Given the description of an element on the screen output the (x, y) to click on. 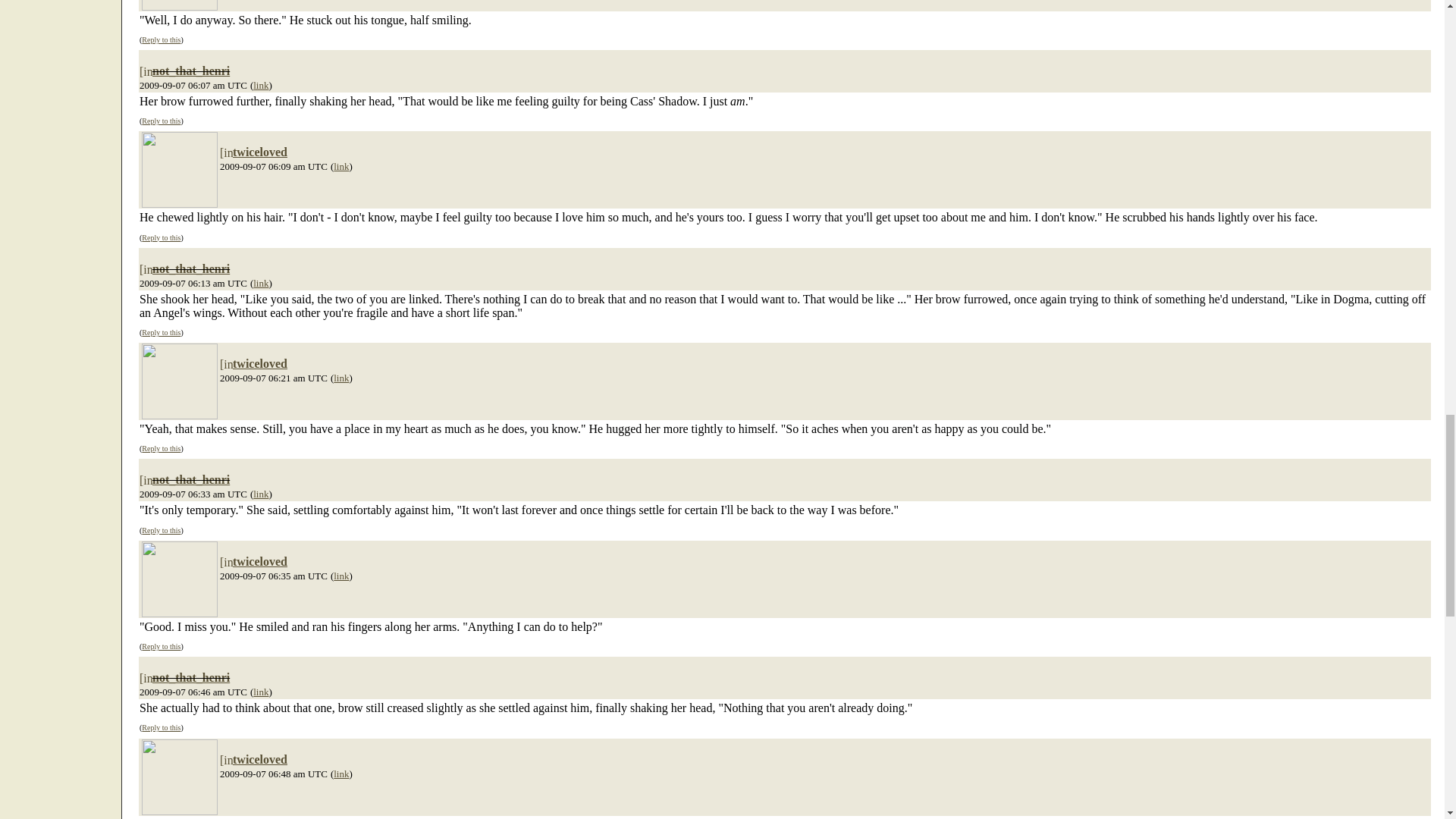
Soren Elias Chappu Skwigelf: blank - heartbroken (178, 381)
Soren Elias Chappu Skwigelf: crestfallen (178, 169)
Soren Elias Chappu Skwigelf: cutieface (178, 5)
